Given the description of an element on the screen output the (x, y) to click on. 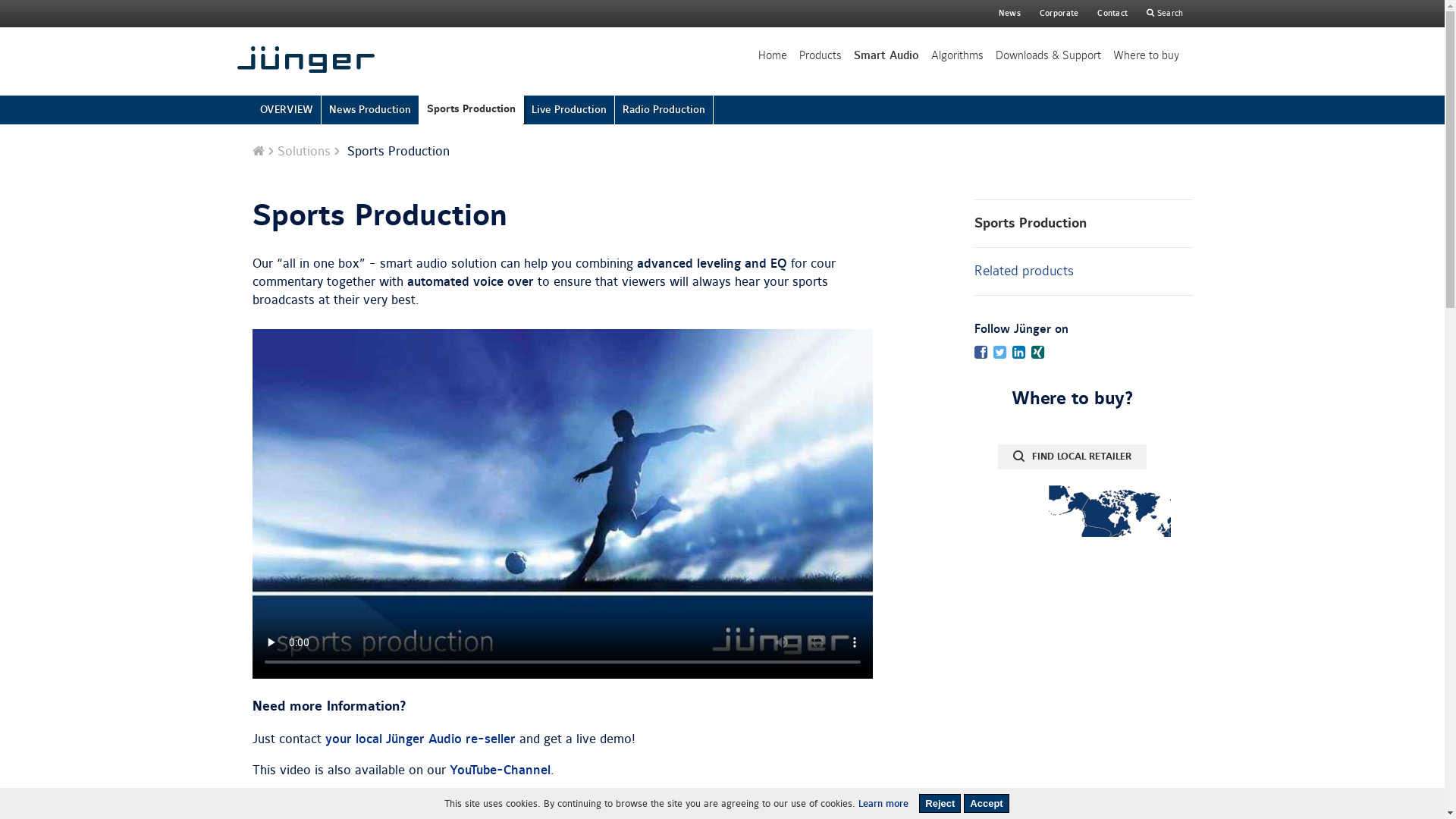
Solutions Element type: text (303, 151)
Facebook Element type: text (979, 354)
Xing Element type: text (1038, 354)
Home Element type: text (257, 151)
Corporate Element type: text (1058, 9)
Reject Element type: text (939, 802)
Accept Element type: text (985, 802)
Home Element type: text (772, 55)
Related products Element type: text (1082, 270)
OVERVIEW Element type: text (285, 109)
Sports Production Element type: text (1082, 223)
Learn more Element type: text (883, 803)
News Production Element type: text (370, 109)
Where to buy Element type: text (1146, 55)
Sports Production Element type: text (470, 108)
YouTube-Channel Element type: text (498, 770)
LinkedIn Element type: text (1017, 354)
Products Element type: text (820, 55)
Live Production Element type: text (568, 109)
Contact Element type: text (1112, 9)
Algorithms Element type: text (957, 55)
Twitter Element type: text (999, 354)
Radio Production Element type: text (663, 109)
Smart Audio Element type: text (886, 55)
Downloads & Support Element type: text (1047, 55)
FIND LOCAL RETAILER Element type: text (1071, 456)
News Element type: text (1009, 9)
